Given the description of an element on the screen output the (x, y) to click on. 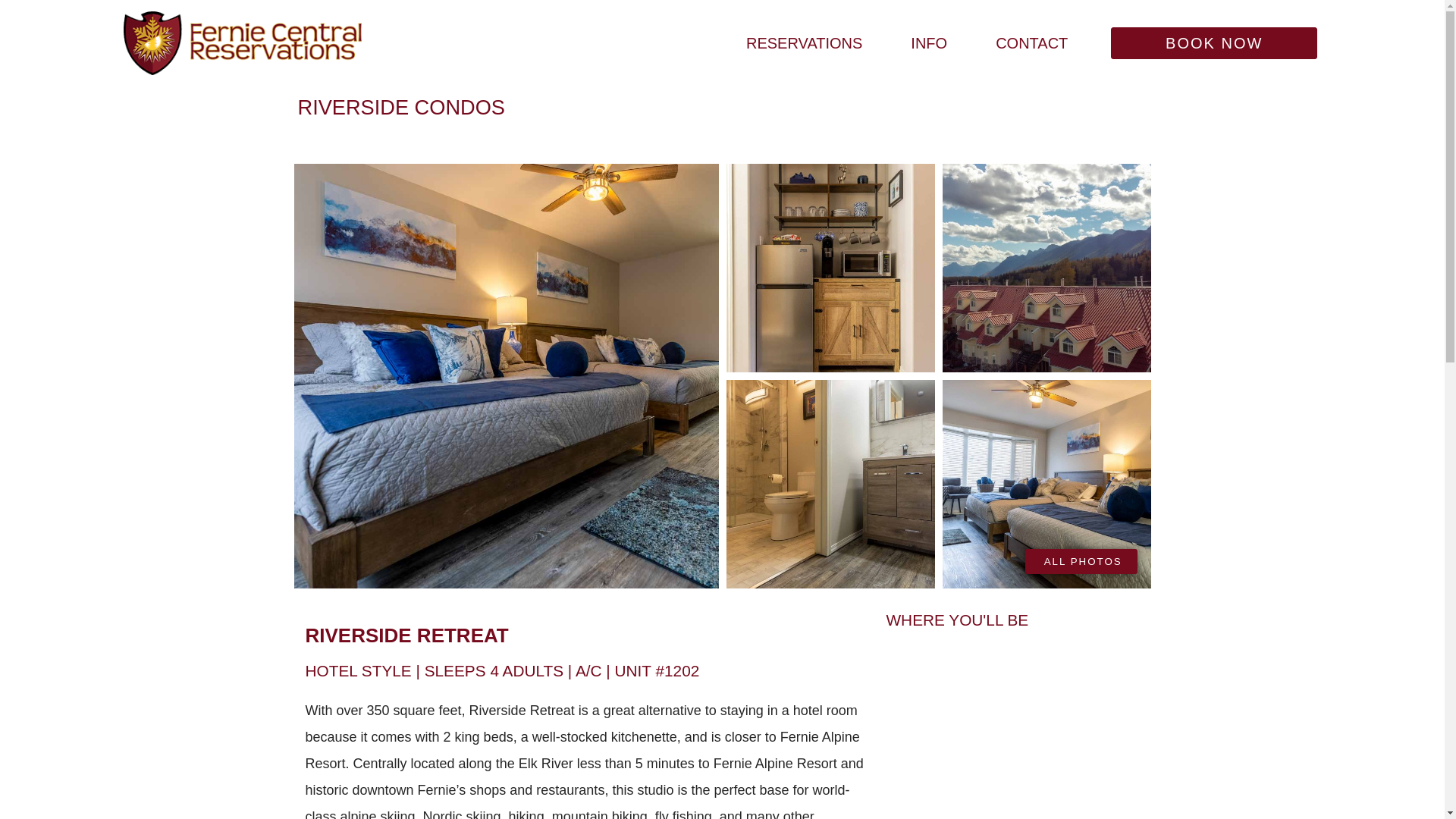
RESERVATIONS (807, 42)
CONTACT (1035, 42)
INFO (932, 42)
